Given the description of an element on the screen output the (x, y) to click on. 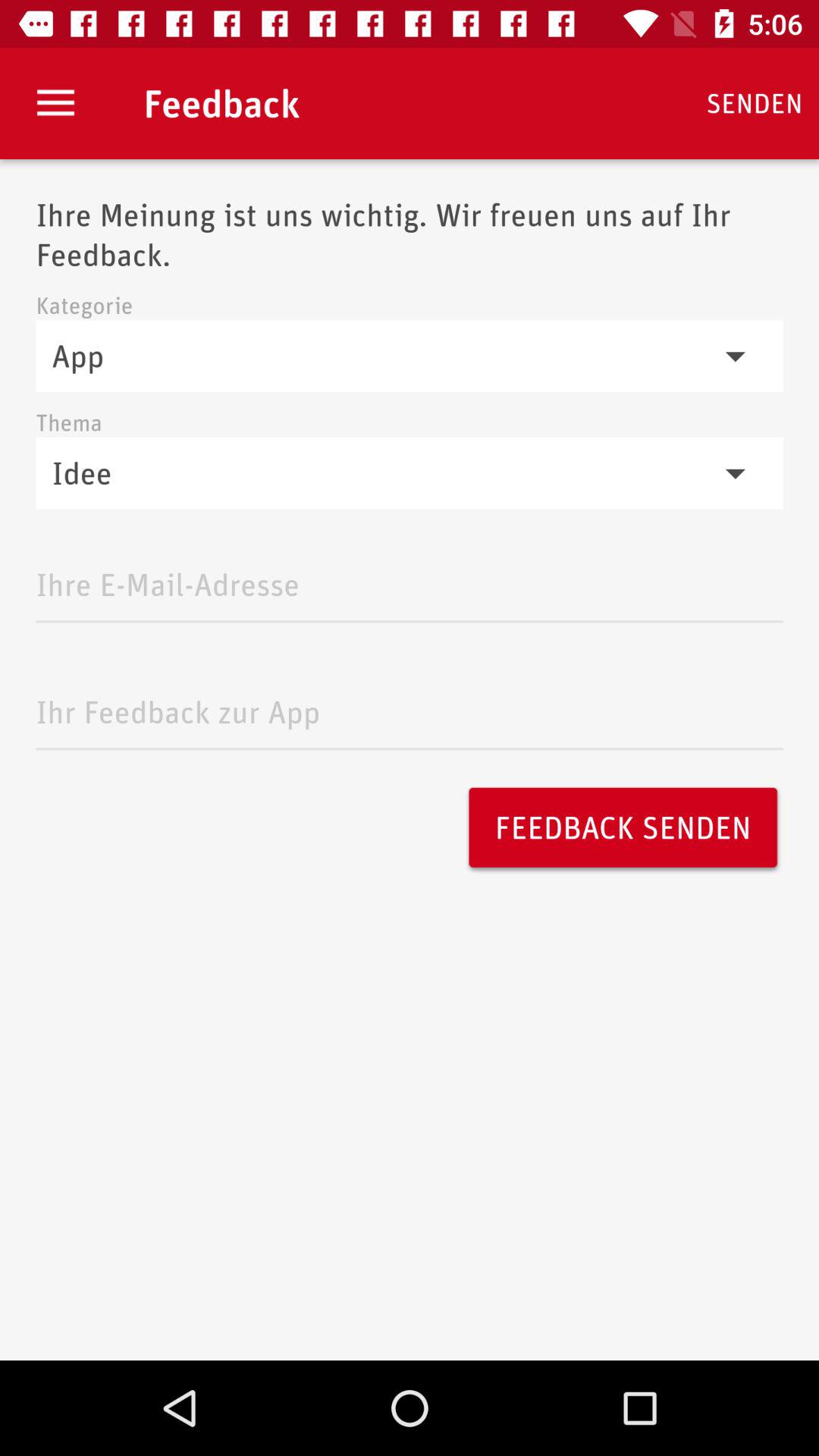
turn on item above ihre meinung ist item (55, 103)
